Given the description of an element on the screen output the (x, y) to click on. 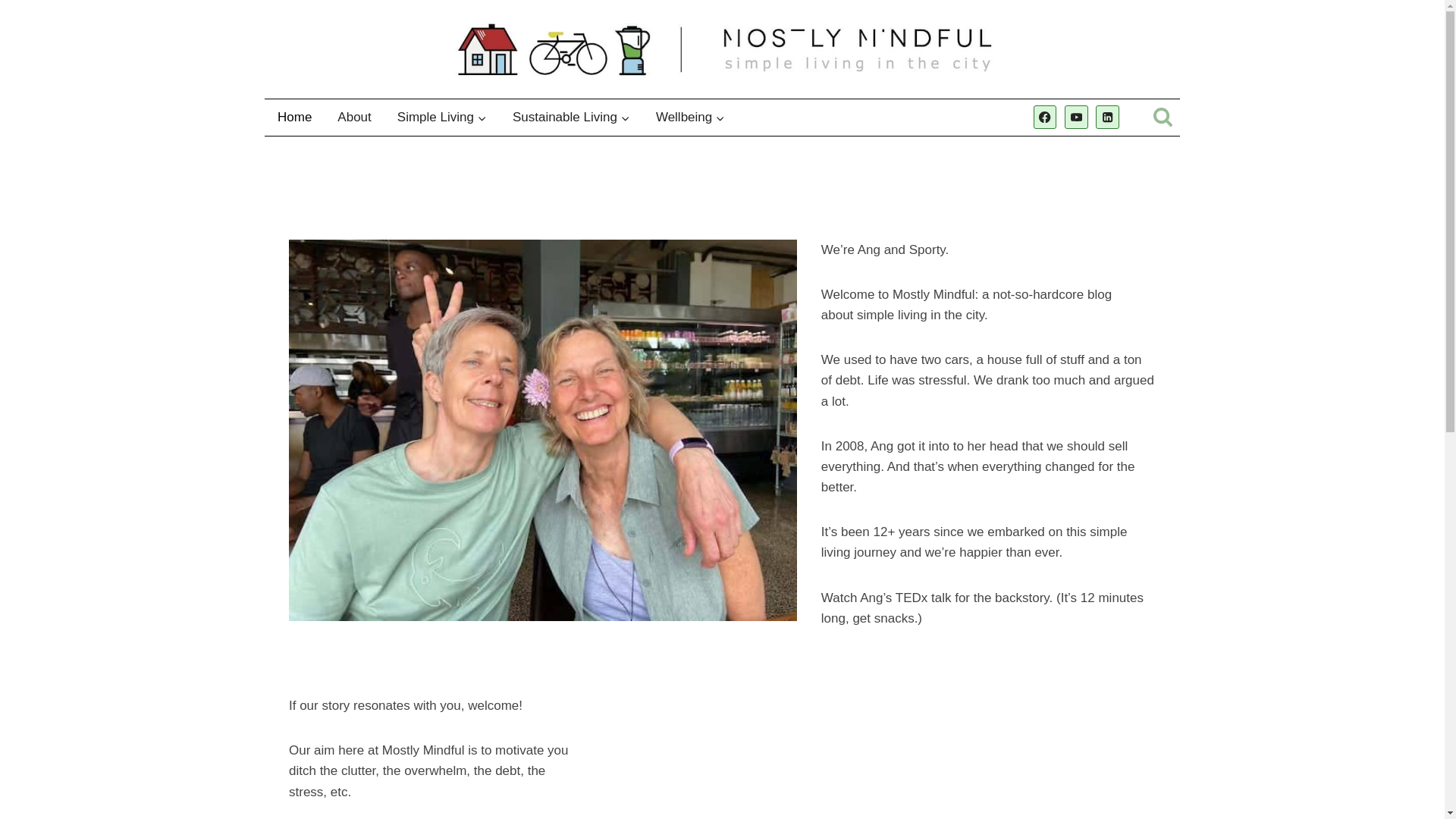
Simple Living (441, 117)
About (354, 117)
Sustainable Living (571, 117)
Home (294, 117)
Wellbeing (690, 117)
